Given the description of an element on the screen output the (x, y) to click on. 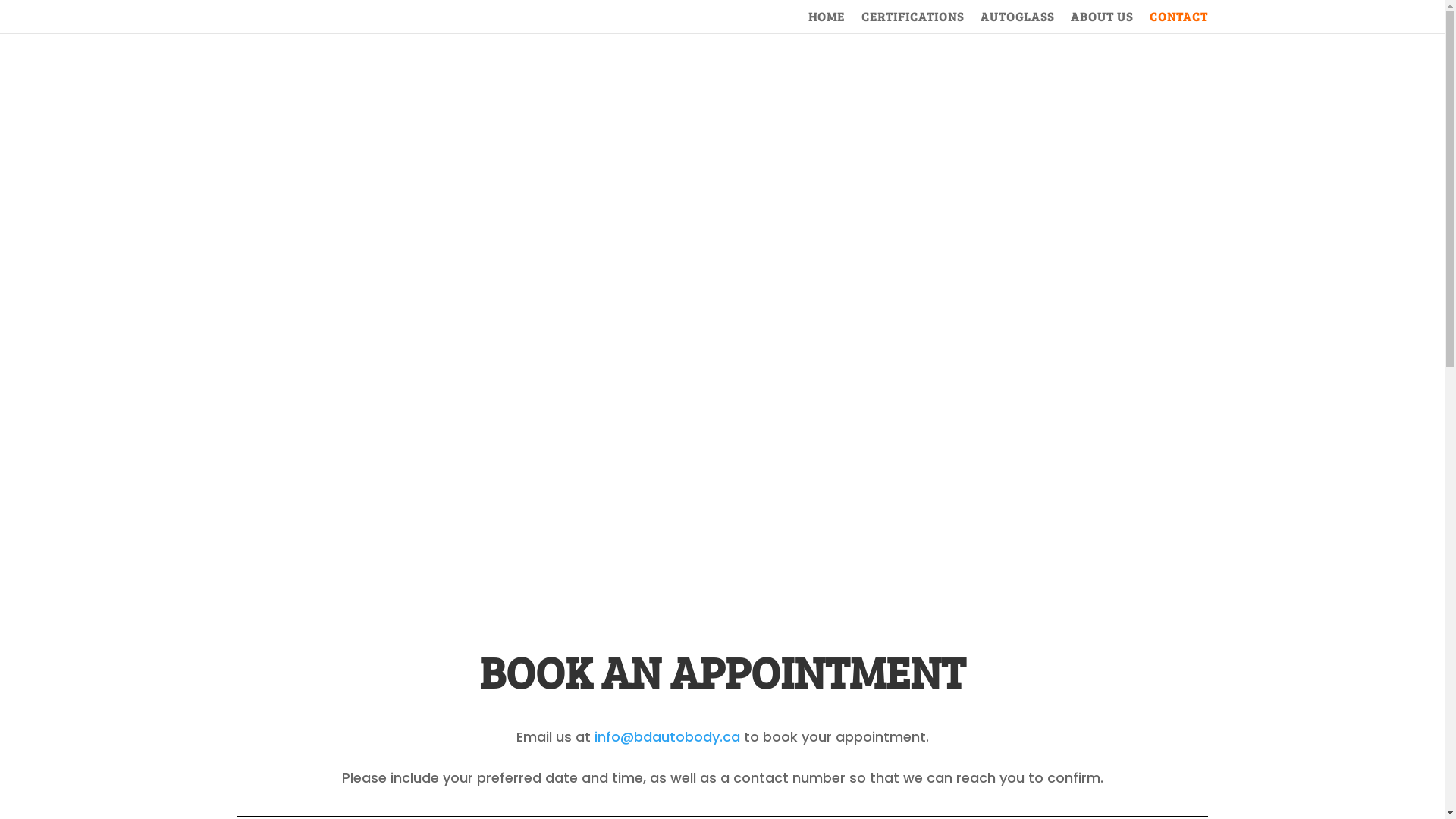
HOME Element type: text (826, 22)
info@bdautobody.ca Element type: text (668, 736)
ABOUT US Element type: text (1101, 22)
AUTOGLASS Element type: text (1016, 22)
CONTACT Element type: text (1178, 22)
CERTIFICATIONS Element type: text (912, 22)
